Given the description of an element on the screen output the (x, y) to click on. 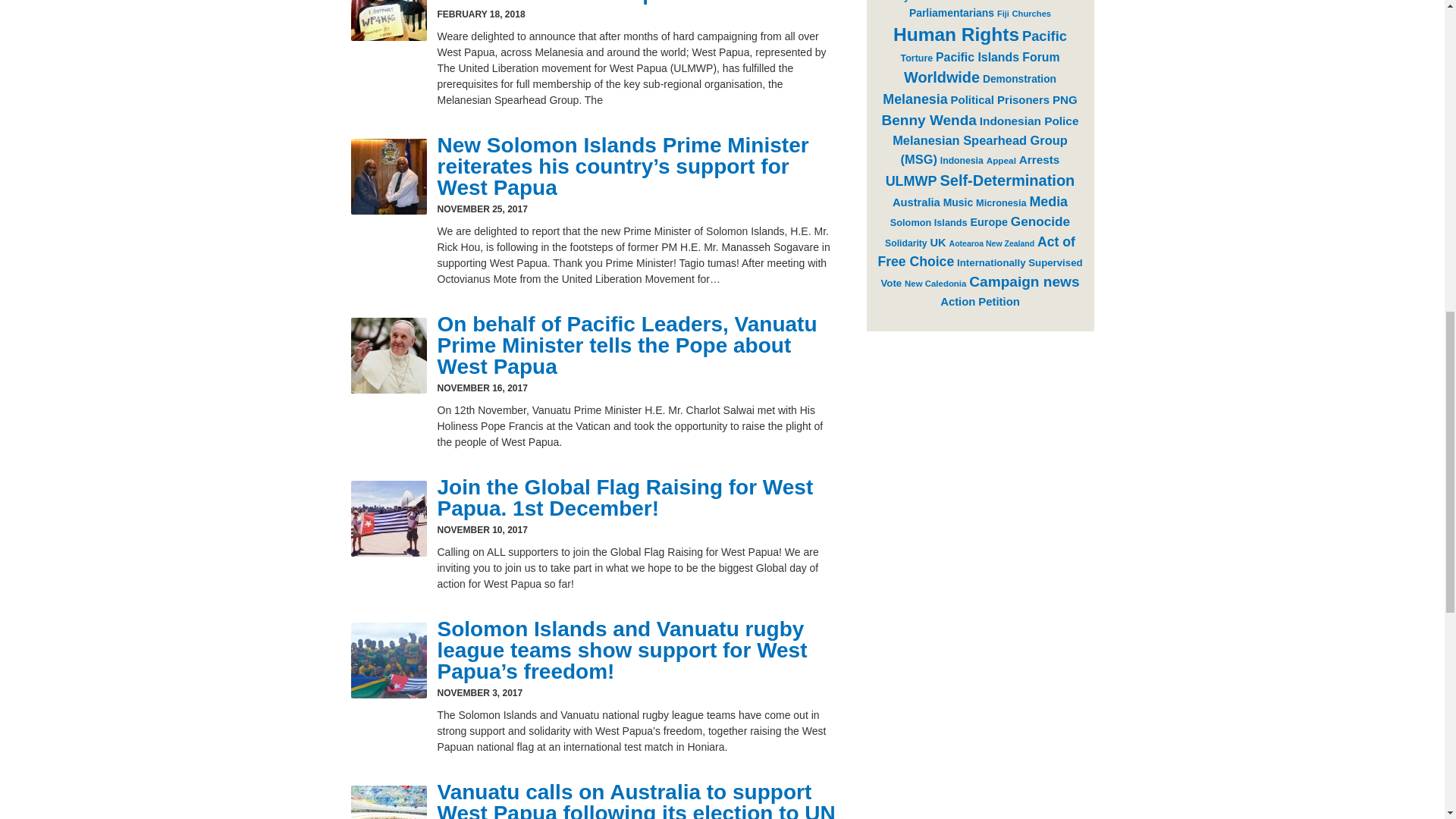
West Papua fulfills prerequisites for full MSG membership (616, 2)
Join the Global Flag Raising for West Papua. 1st December! (624, 497)
